Given the description of an element on the screen output the (x, y) to click on. 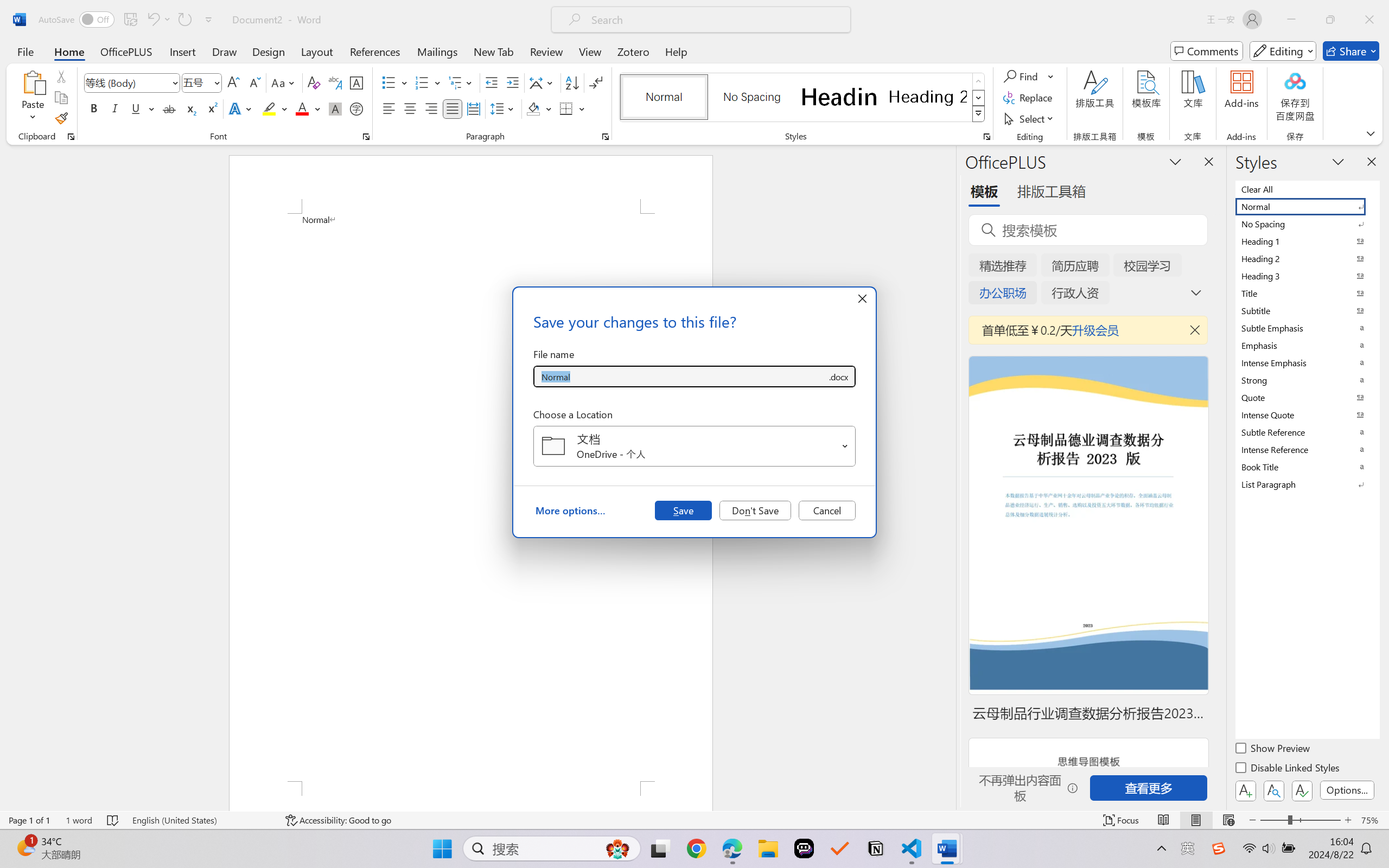
Font (126, 82)
Word Count 1 word (78, 819)
Accessibility Checker Accessibility: Good to go (338, 819)
Home (69, 51)
Shrink Font (253, 82)
Clear All (1306, 188)
Font Size (201, 82)
Borders (571, 108)
Close (1369, 19)
Quote (1306, 397)
Class: NetUIImage (978, 114)
Show/Hide Editing Marks (595, 82)
